Given the description of an element on the screen output the (x, y) to click on. 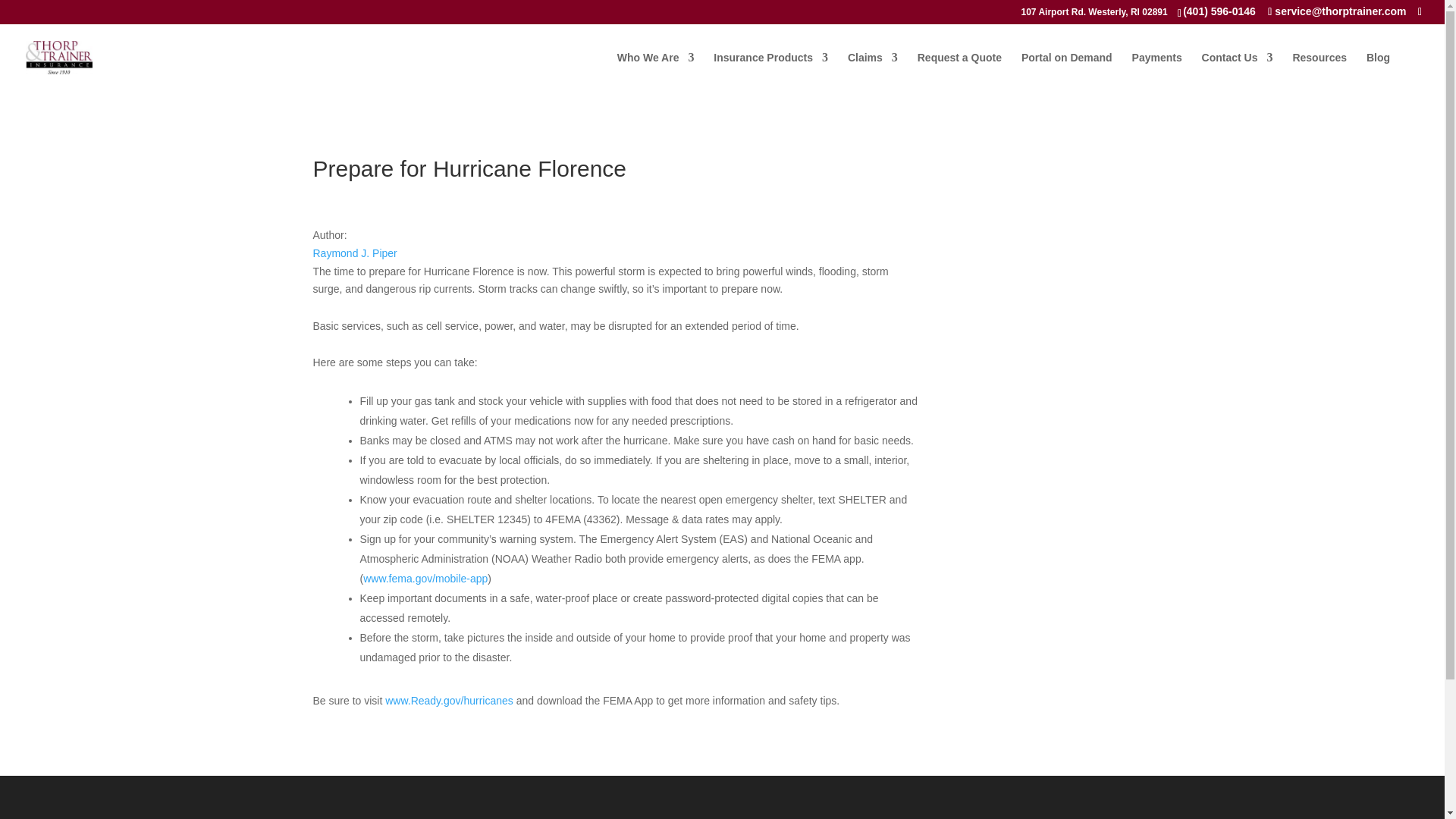
Portal on Demand (1067, 69)
Claims (872, 69)
Who We Are (655, 69)
Contact Us (1237, 69)
Request a Quote (959, 69)
Resources (1319, 69)
Payments (1157, 69)
Insurance Products (770, 69)
Show all posts by Raymond J. Piper (354, 253)
